Given the description of an element on the screen output the (x, y) to click on. 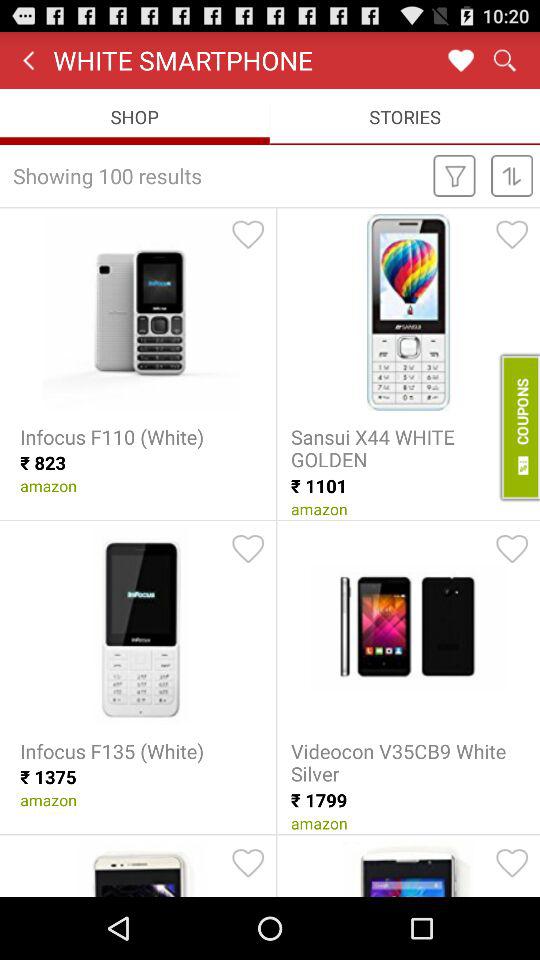
you enjoy this phone (248, 549)
